Given the description of an element on the screen output the (x, y) to click on. 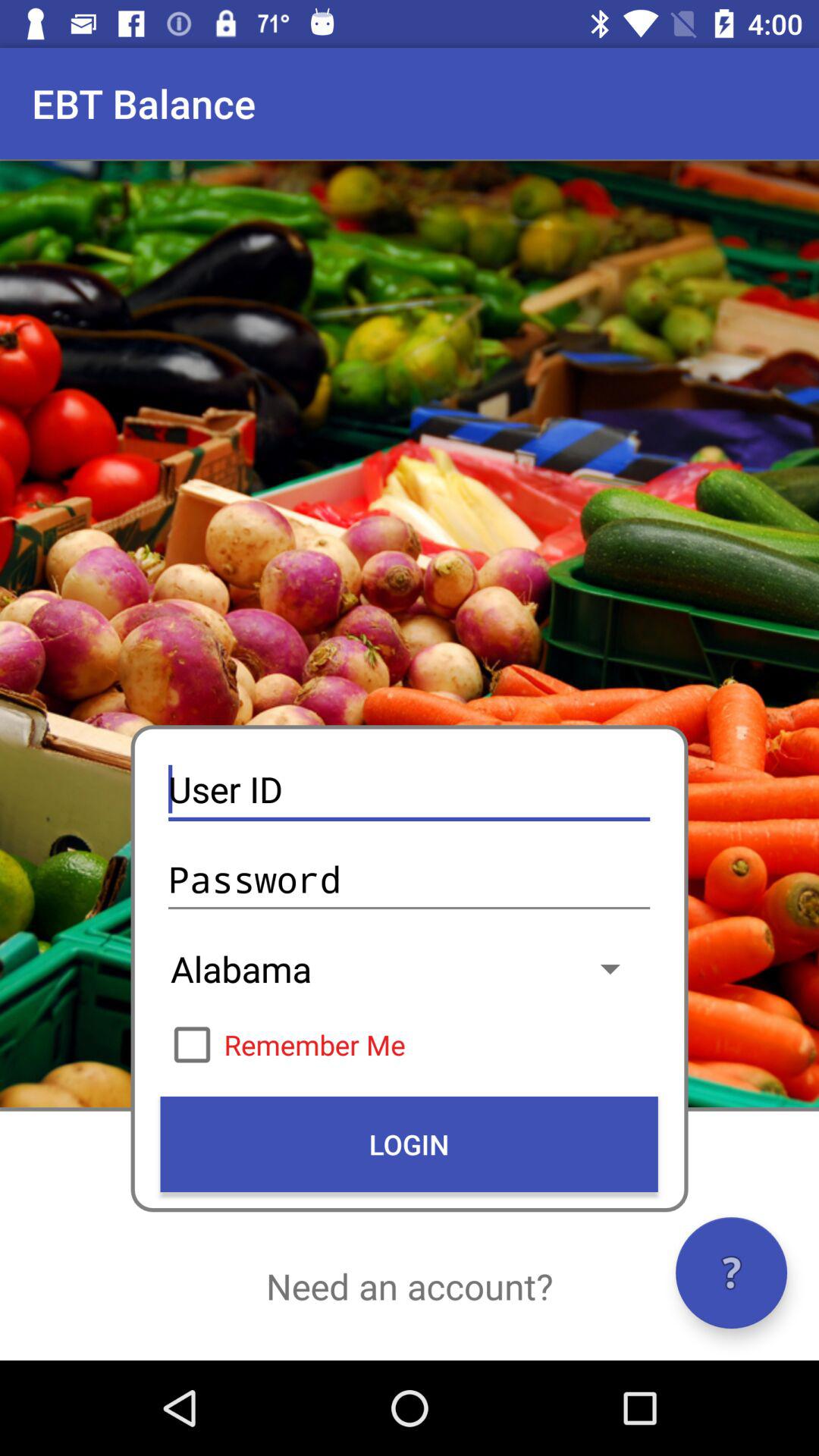
turn on icon at the bottom right corner (731, 1272)
